Given the description of an element on the screen output the (x, y) to click on. 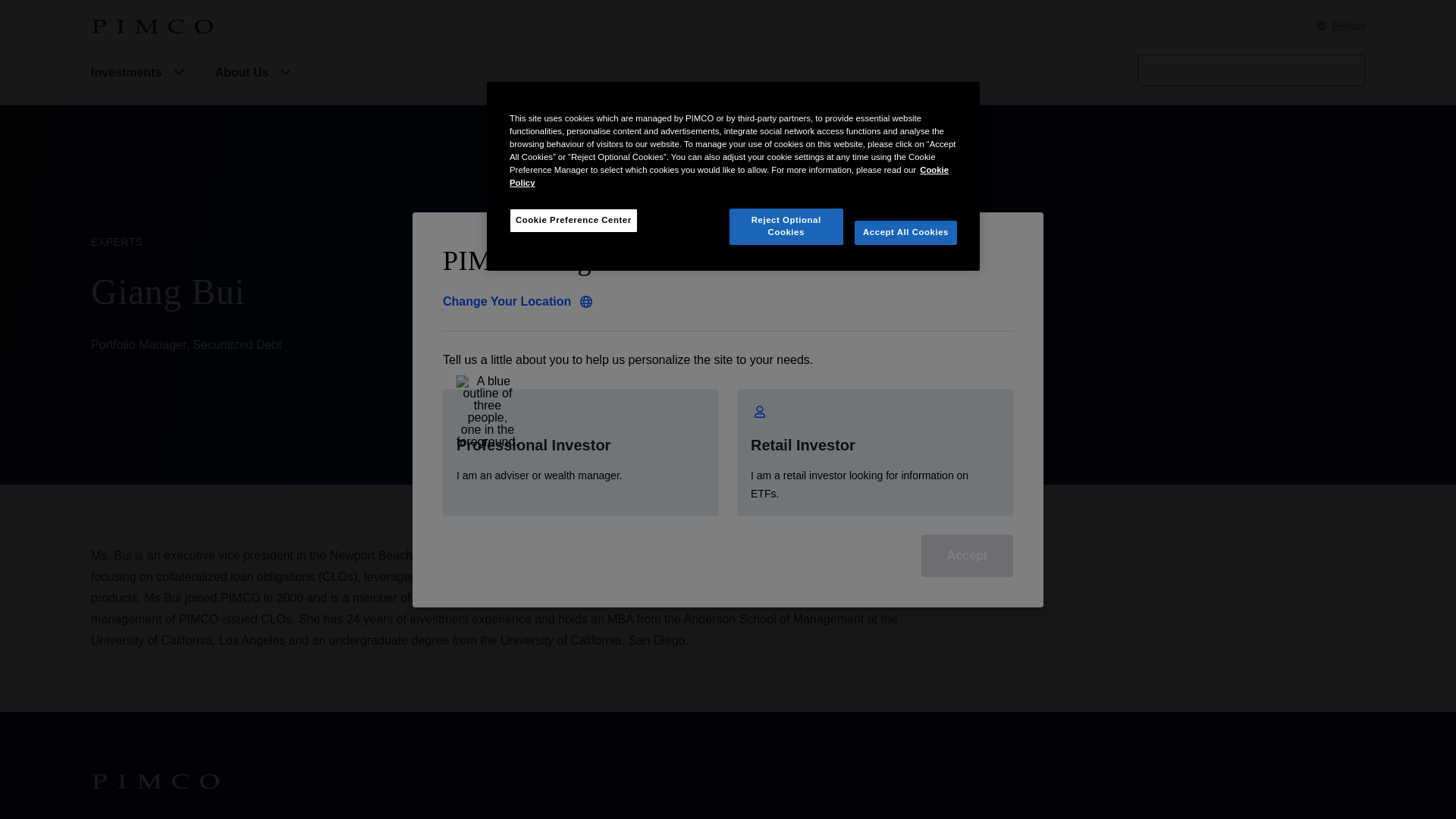
PIMCO Home (152, 27)
Investments (140, 84)
Change Your Location (517, 301)
About Us (255, 84)
Belgium (1341, 25)
